Given the description of an element on the screen output the (x, y) to click on. 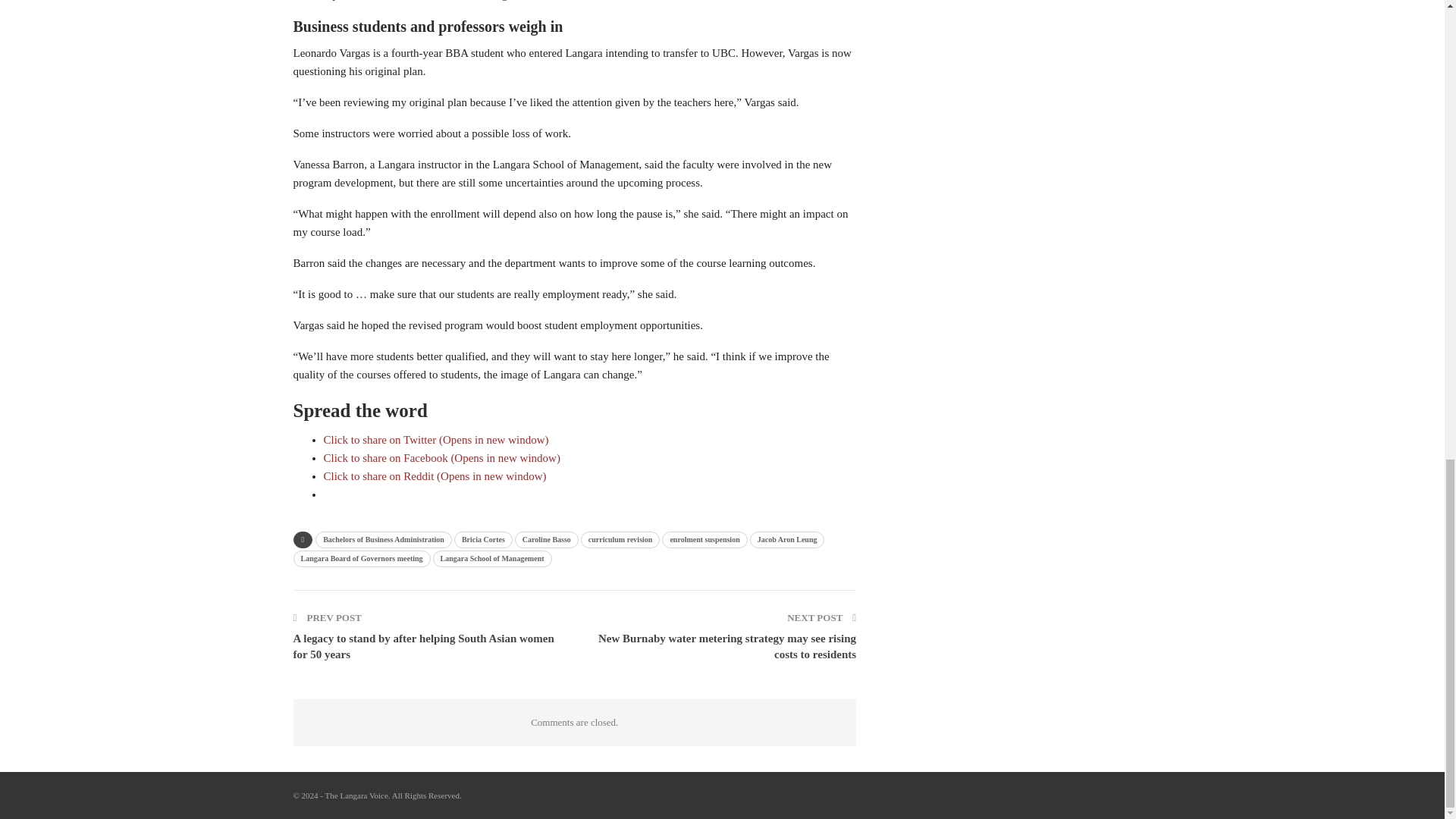
Caroline Basso (546, 539)
Click to share on Twitter (435, 439)
Bachelors of Business Administration (383, 539)
curriculum revision (620, 539)
Jacob Aron Leung (787, 539)
Bricia Cortes (483, 539)
Click to share on Facebook (441, 458)
Click to share on Reddit (434, 476)
enrolment suspension (704, 539)
